Given the description of an element on the screen output the (x, y) to click on. 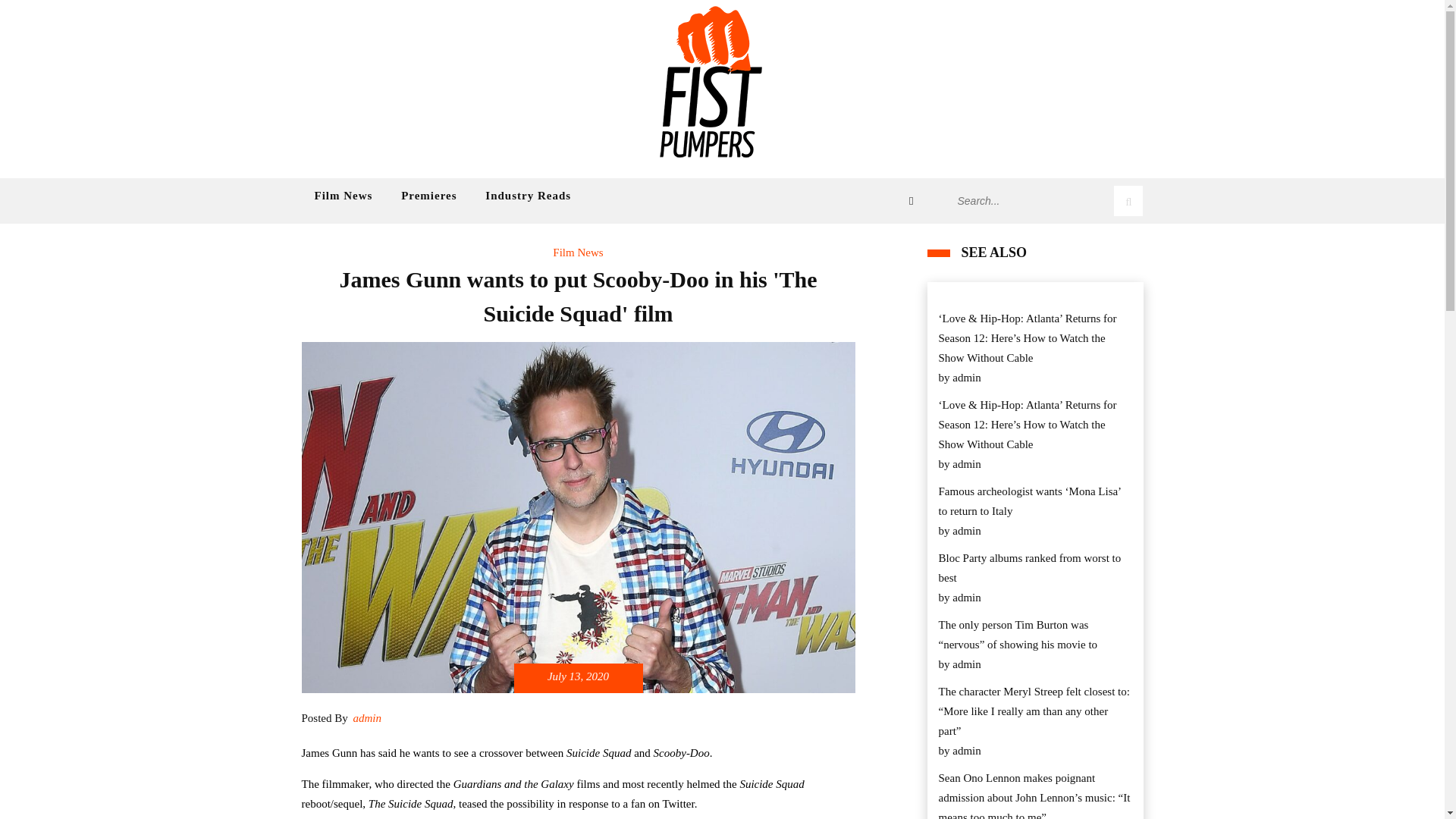
admin (966, 750)
admin (966, 530)
admin (966, 377)
Industry Reads (527, 195)
Bloc Party albums ranked from worst to best (1035, 567)
Film News (577, 252)
admin (966, 597)
admin (966, 464)
Film News (343, 195)
admin (966, 664)
Premieres (428, 195)
